Given the description of an element on the screen output the (x, y) to click on. 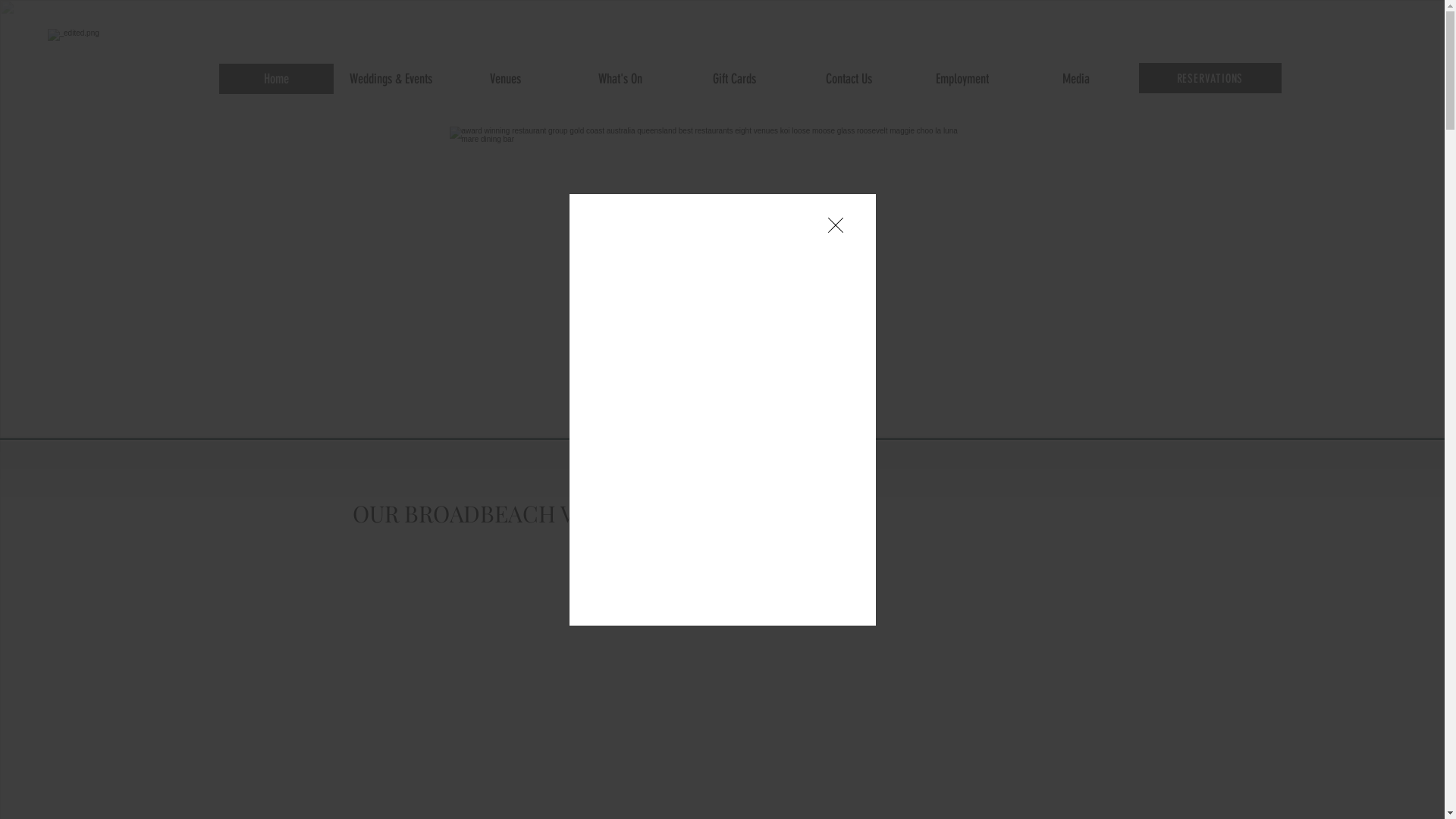
Google Maps Element type: hover (718, 666)
Venues Element type: text (504, 78)
What's On Element type: text (619, 78)
Media Element type: text (1075, 78)
Home Element type: text (275, 78)
Back to site Element type: hover (835, 224)
Gennari Group Sign Up Form Element type: hover (794, 450)
Weddings & Events Element type: text (390, 78)
Employment Element type: text (962, 78)
Contact Us Element type: text (848, 78)
RESERVATIONS Element type: text (1210, 77)
